Given the description of an element on the screen output the (x, y) to click on. 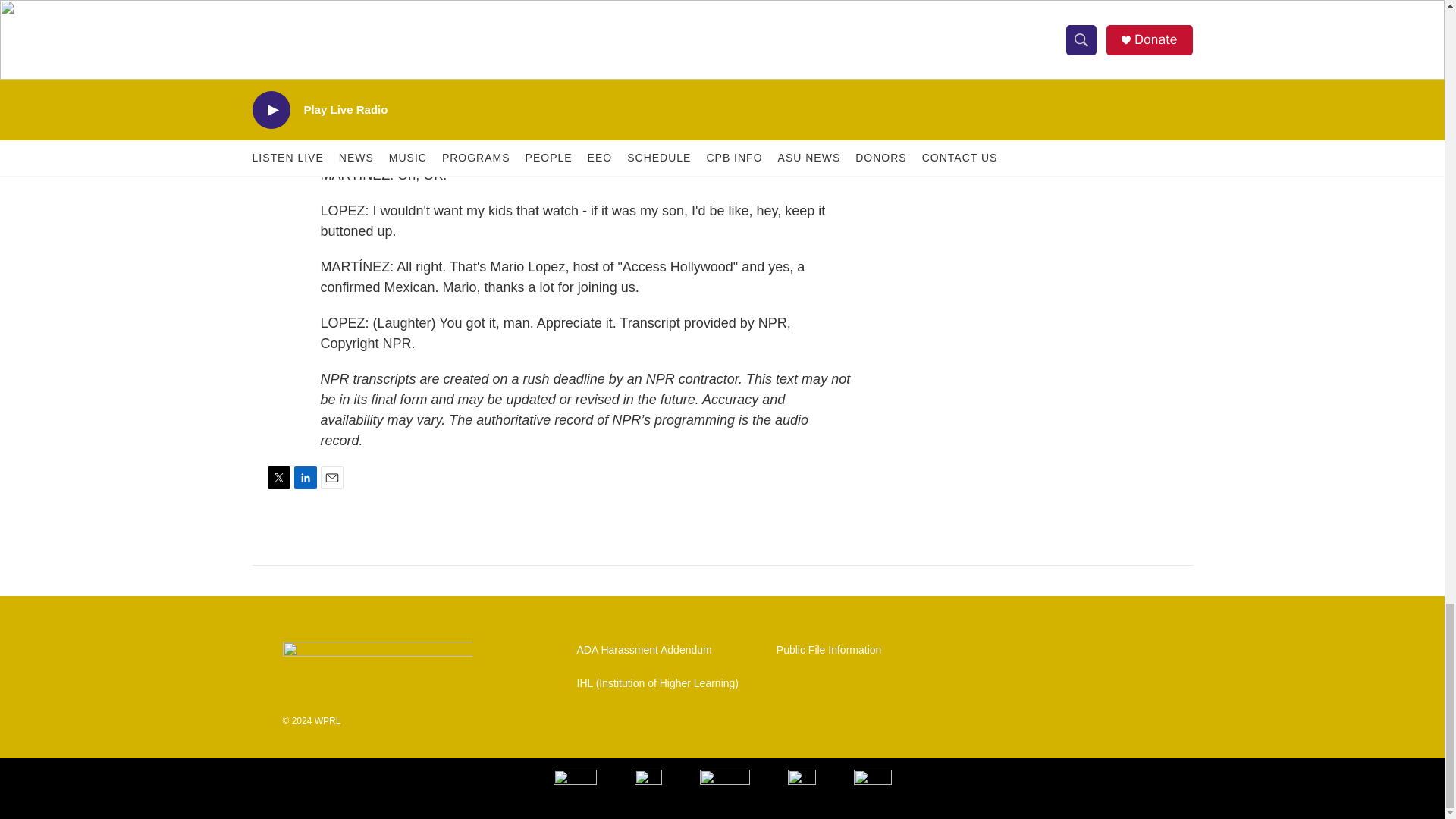
Email (331, 477)
Twitter (277, 477)
LinkedIn (305, 477)
